Given the description of an element on the screen output the (x, y) to click on. 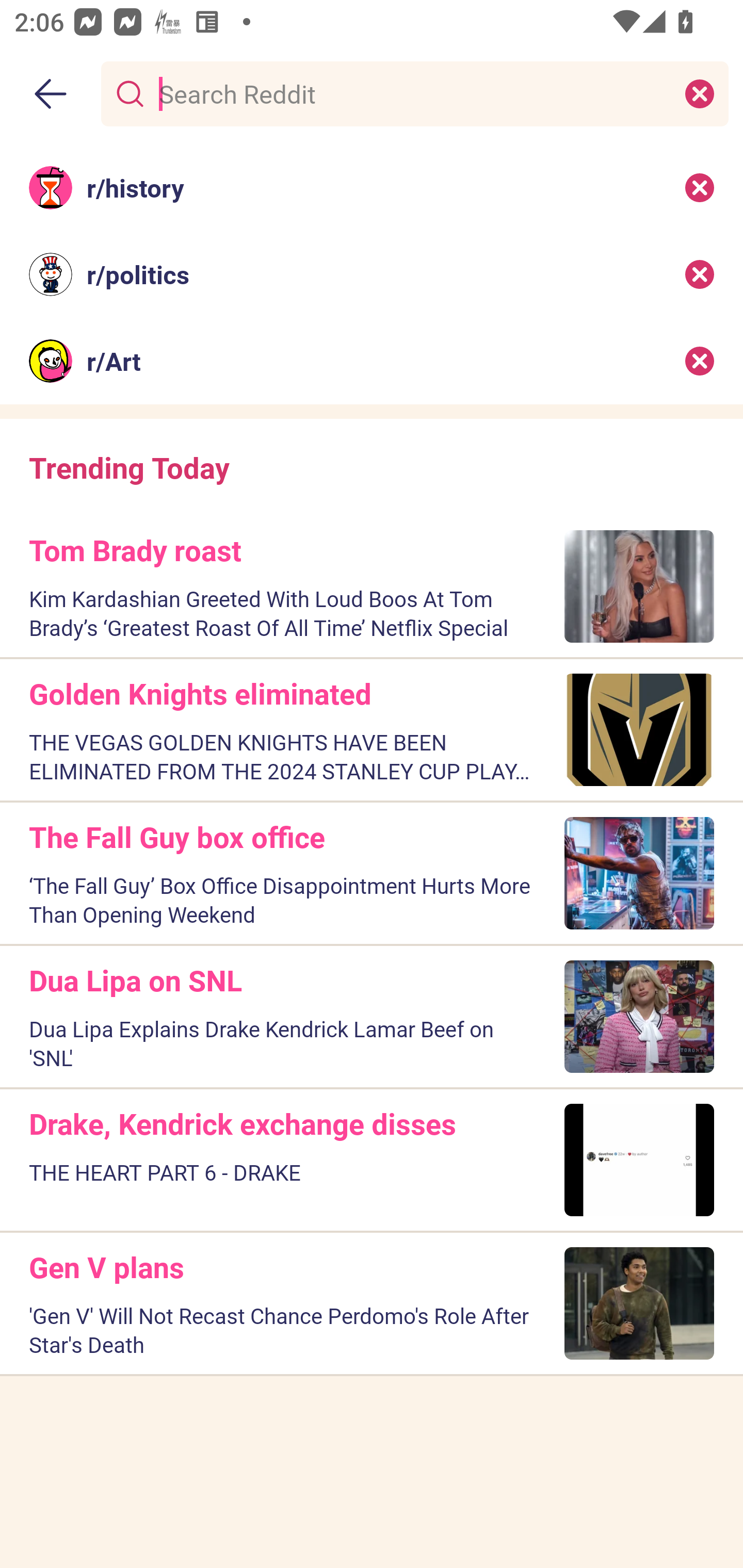
Back (50, 93)
Search Reddit (410, 93)
Clear search (699, 93)
r/history Recent search: r/history Remove (371, 187)
Remove (699, 187)
r/politics Recent search: r/politics Remove (371, 274)
Remove (699, 274)
r/Art Recent search: r/Art Remove (371, 361)
Remove (699, 361)
